Given the description of an element on the screen output the (x, y) to click on. 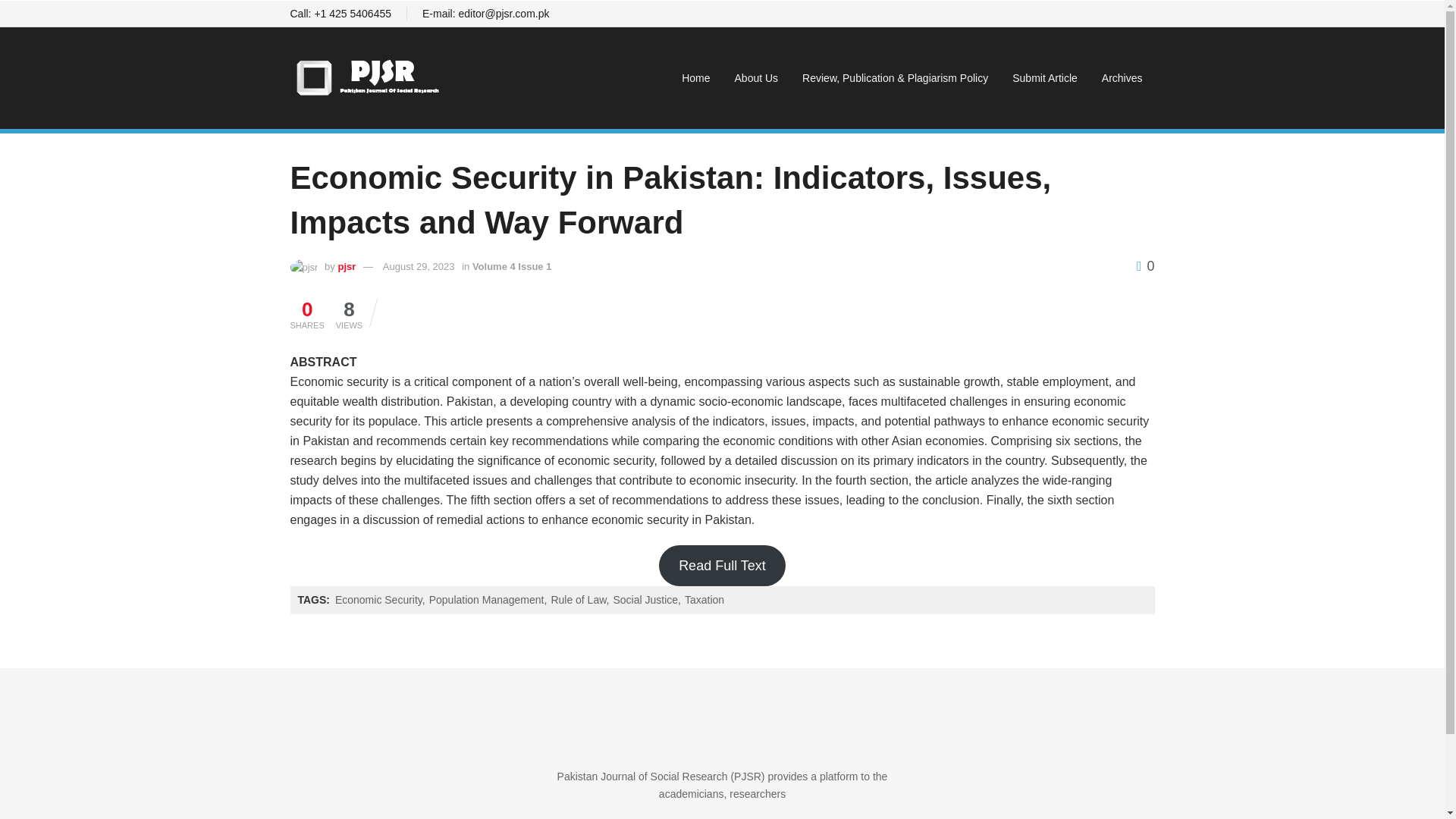
About Us (756, 77)
Volume 4 Issue 1 (511, 266)
Taxation (703, 599)
Economic Security (379, 599)
Submit Article (1044, 77)
Read Full Text (722, 565)
0 (1145, 265)
Social Justice (645, 599)
Population Management (488, 599)
Rule of Law (579, 599)
Home (695, 77)
pjsr (346, 266)
Archives (1121, 77)
August 29, 2023 (418, 266)
